Given the description of an element on the screen output the (x, y) to click on. 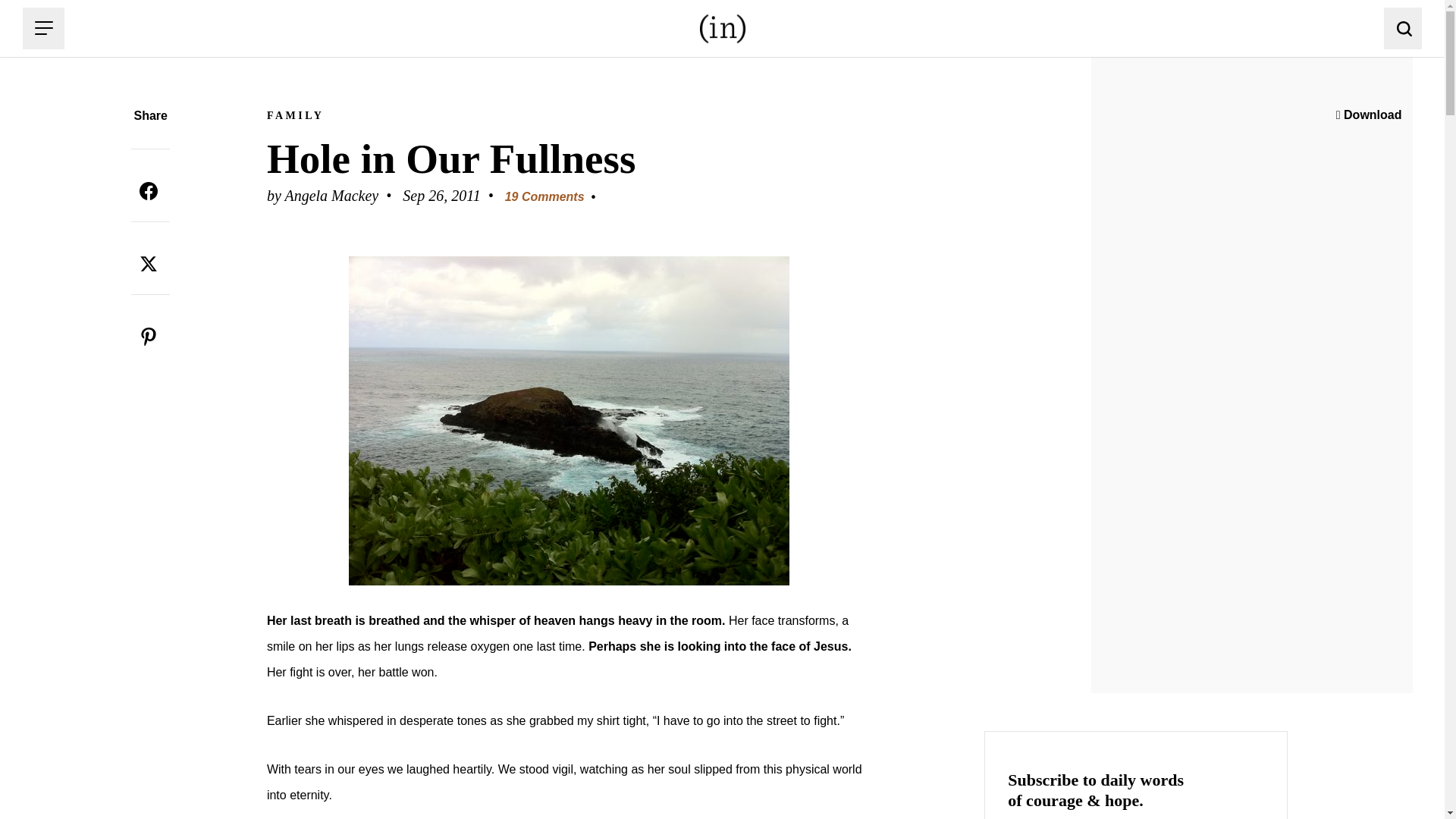
Share on Twitter (148, 263)
Share on Pinterest (148, 336)
Share on Facebook (148, 190)
